Given the description of an element on the screen output the (x, y) to click on. 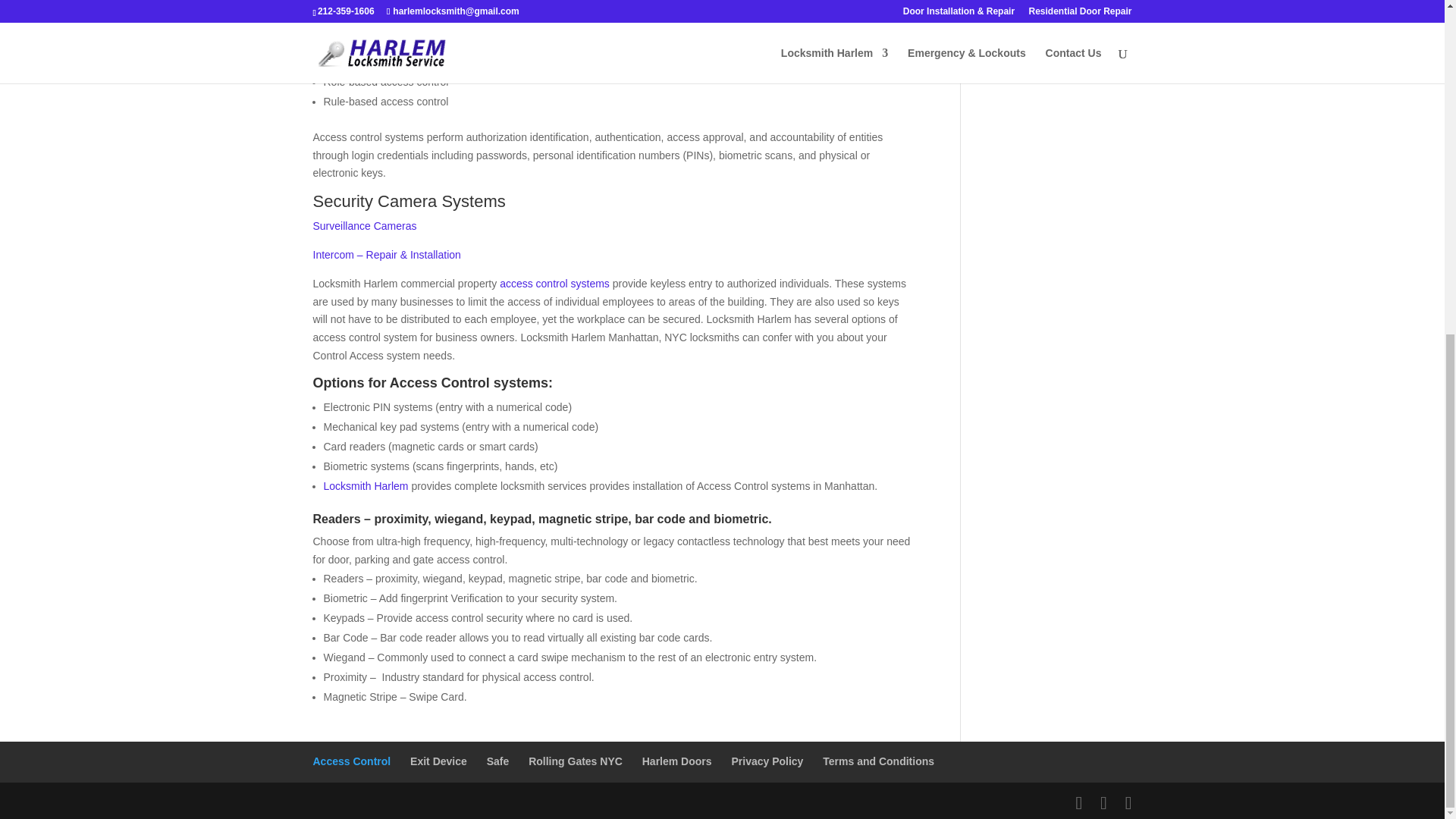
access control systems (554, 283)
Rolling Gates NYC (575, 761)
Exit Device (438, 761)
Harlem Doors (676, 761)
Locksmith Harlem (365, 485)
Safe (497, 761)
Privacy Policy (766, 761)
Surveillance Cameras (364, 225)
Access Control (351, 761)
Terms and Conditions (878, 761)
